Given the description of an element on the screen output the (x, y) to click on. 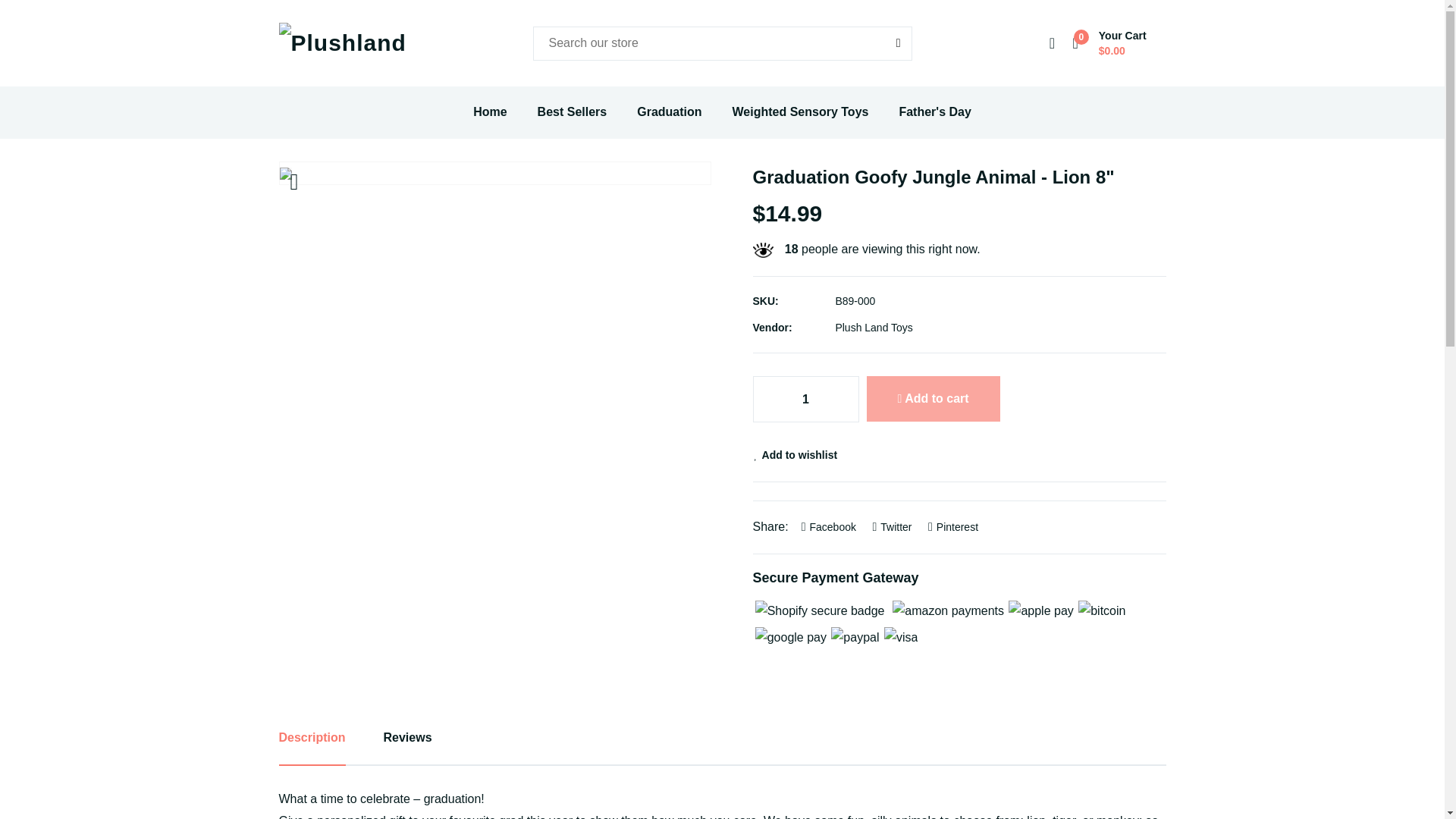
Graduation  (668, 112)
Father's Day (934, 112)
Home (489, 112)
Weighted Sensory Toys (800, 112)
Best Sellers (571, 112)
Add to wishlist (794, 454)
Home (489, 112)
Graduation (668, 112)
Plush Land Toys (873, 327)
This online store is secured by Shopify (820, 610)
